Given the description of an element on the screen output the (x, y) to click on. 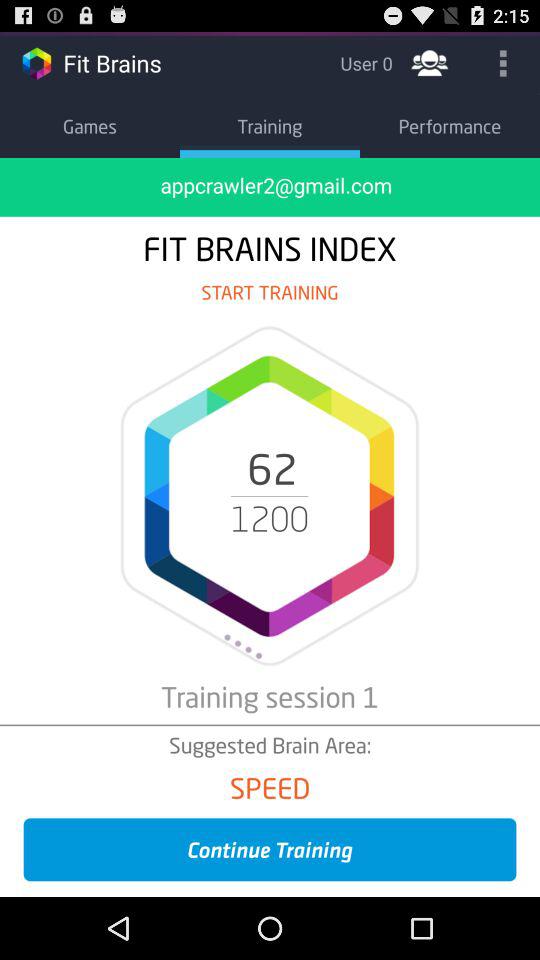
swipe until continue training item (269, 849)
